Given the description of an element on the screen output the (x, y) to click on. 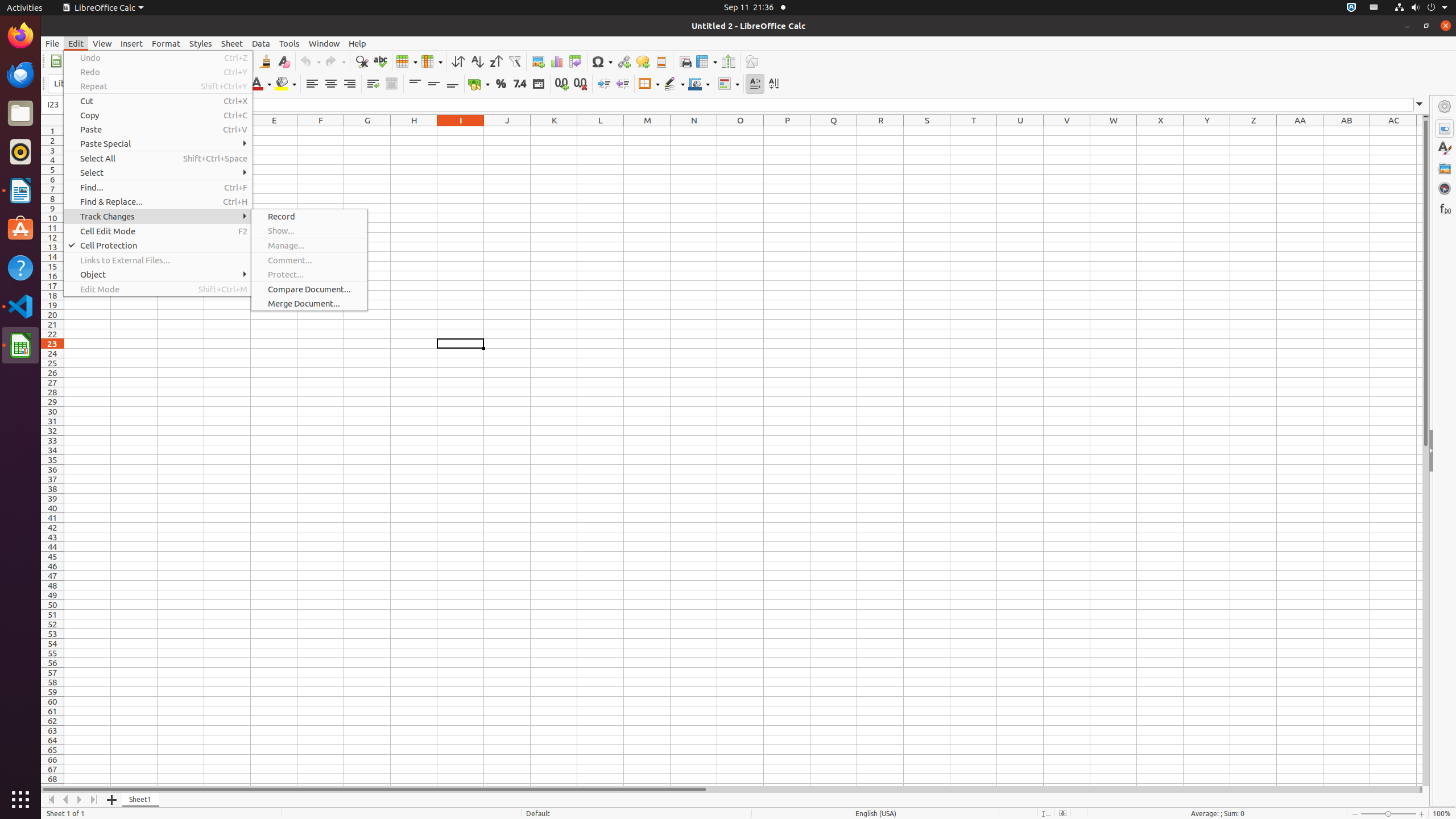
Comment... Element type: menu-item (309, 260)
Compare Document... Element type: menu-item (309, 289)
Redo Element type: push-button (334, 61)
Border Color Element type: push-button (698, 83)
X1 Element type: table-cell (1159, 130)
